Given the description of an element on the screen output the (x, y) to click on. 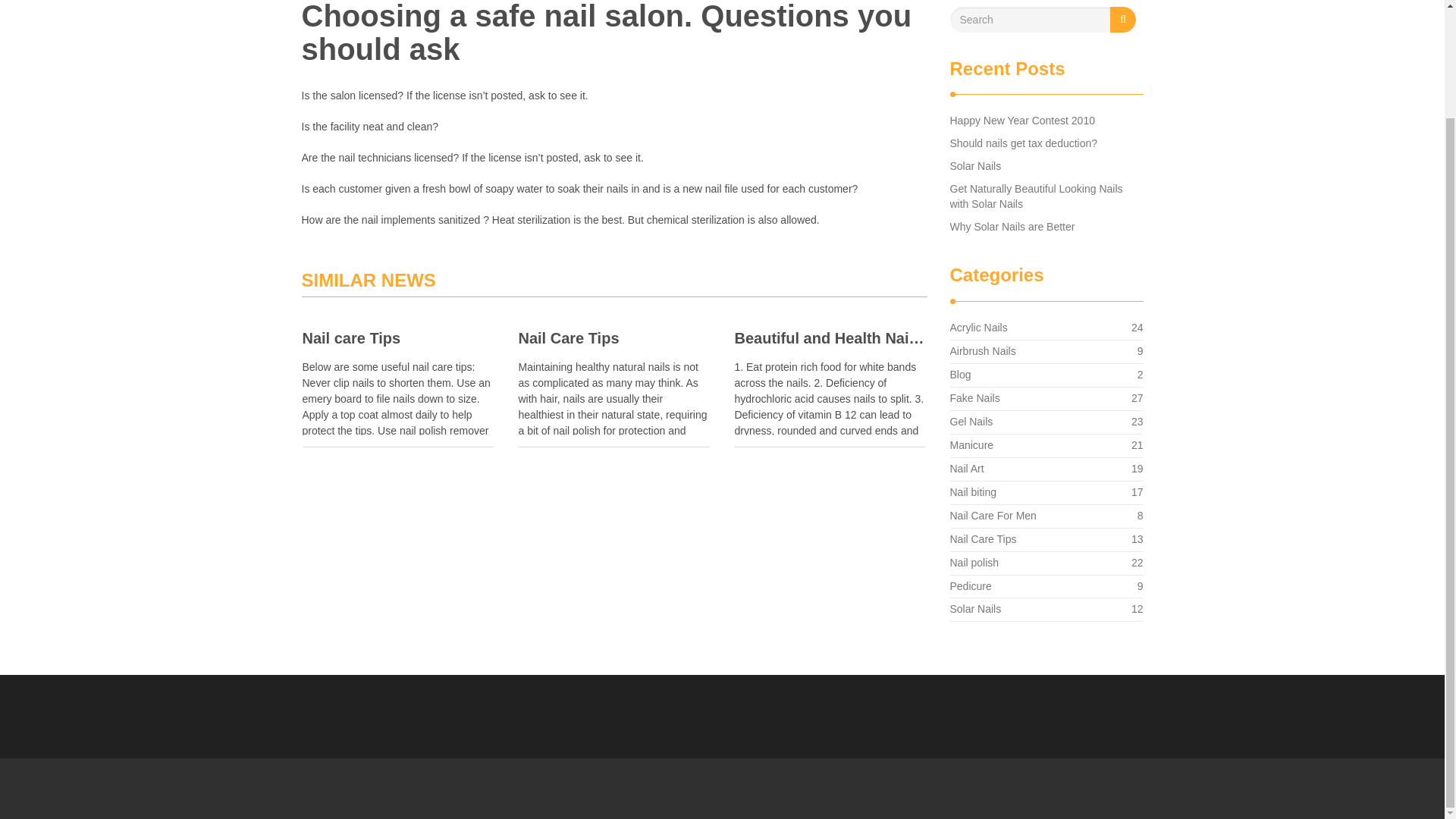
Nail care Tips (397, 338)
Nail Care Tips (975, 608)
Happy New Year Contest 2010 (970, 420)
Beautiful and Health Nails Tips (614, 338)
